Given the description of an element on the screen output the (x, y) to click on. 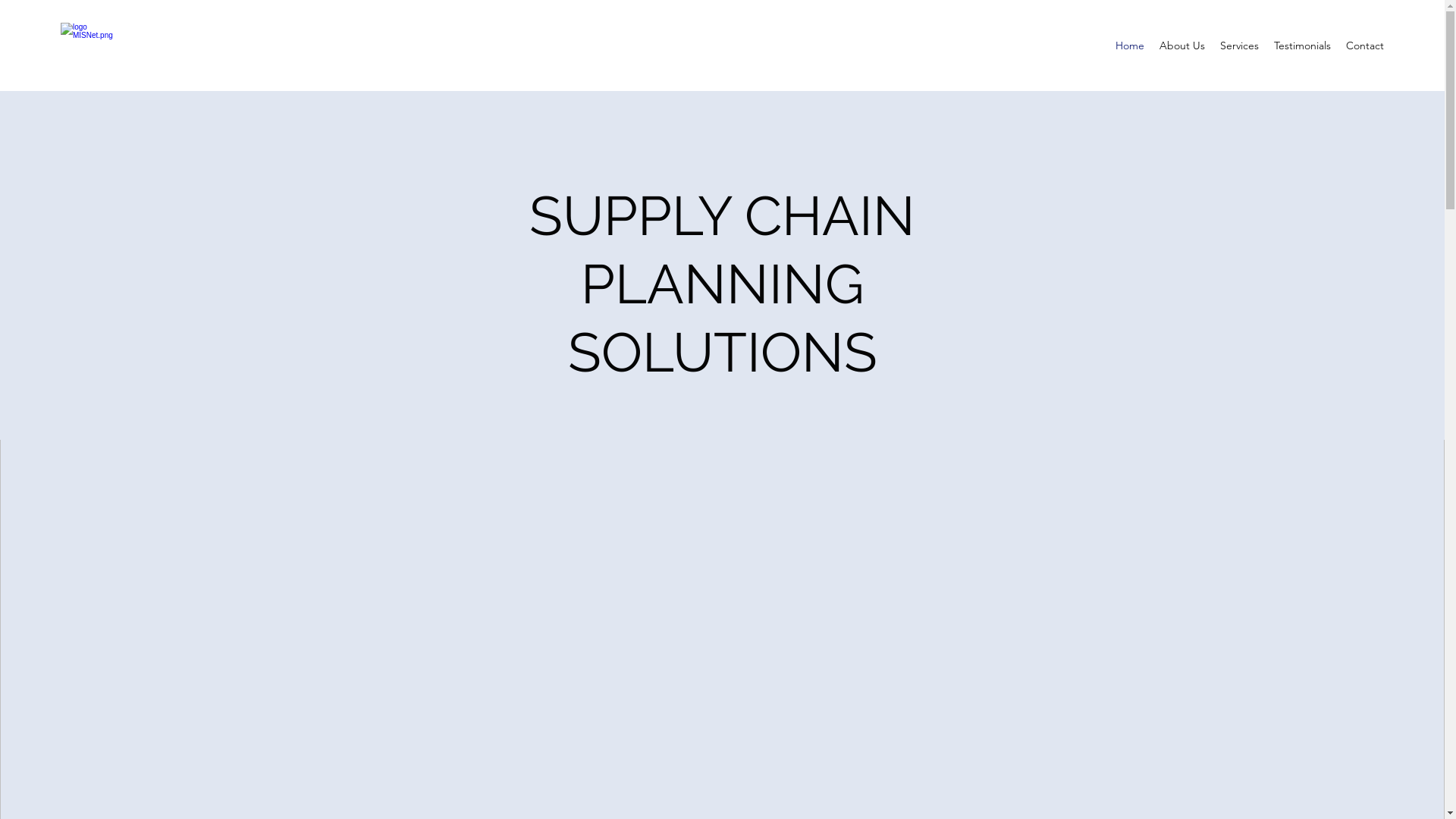
Services Element type: text (1239, 45)
Visitor Analytics Element type: hover (728, 271)
About Us Element type: text (1181, 45)
Contact Element type: text (1364, 45)
Testimonials Element type: text (1302, 45)
Home Element type: text (1129, 45)
